Given the description of an element on the screen output the (x, y) to click on. 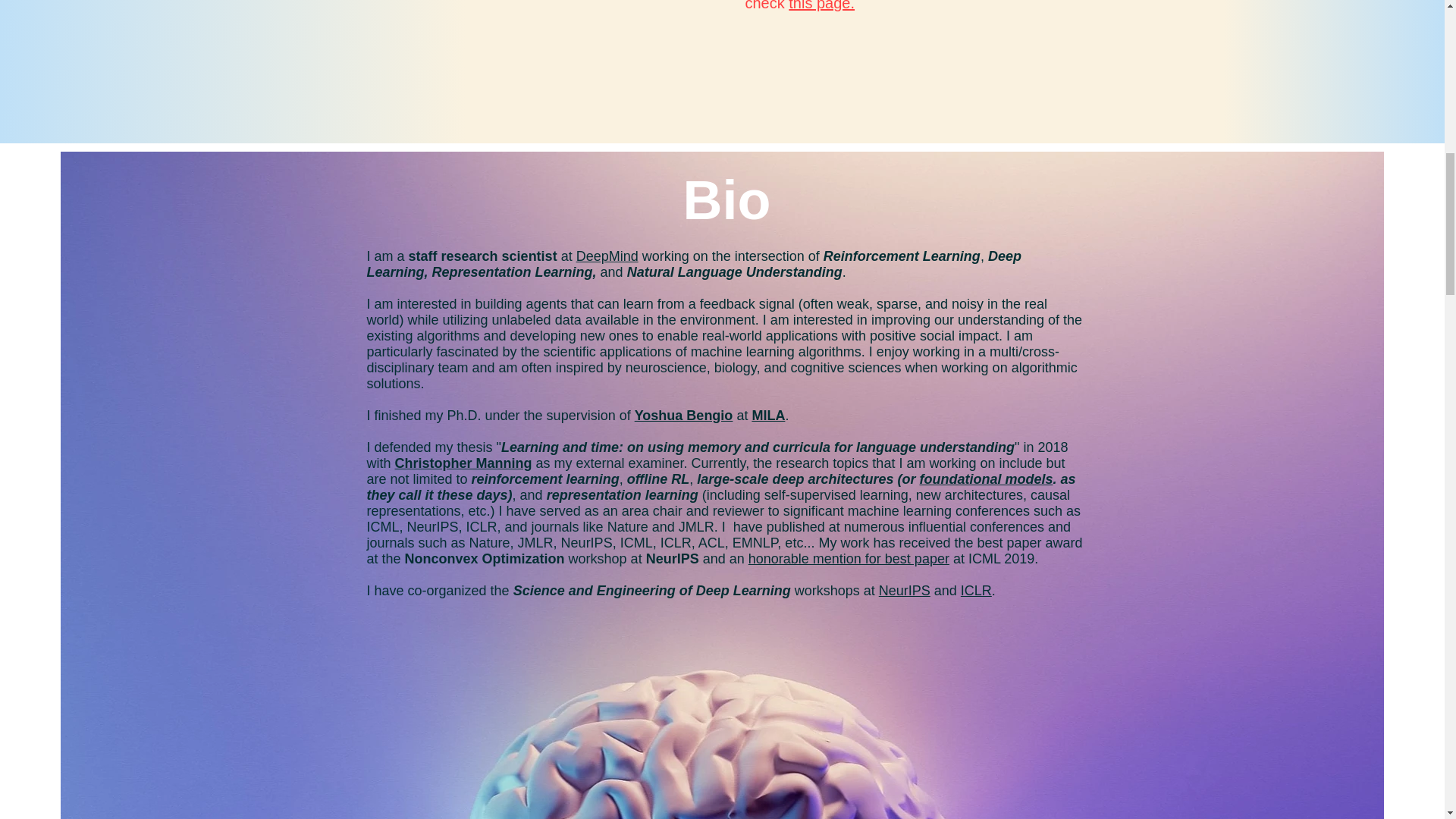
foundational models (985, 478)
Christopher Manning (463, 462)
honorable mention for best paper (848, 558)
NeurIPS (904, 590)
Yoshua Bengio (683, 415)
MILA (767, 415)
ICLR (975, 590)
this page. (821, 5)
DeepMind (607, 255)
